Given the description of an element on the screen output the (x, y) to click on. 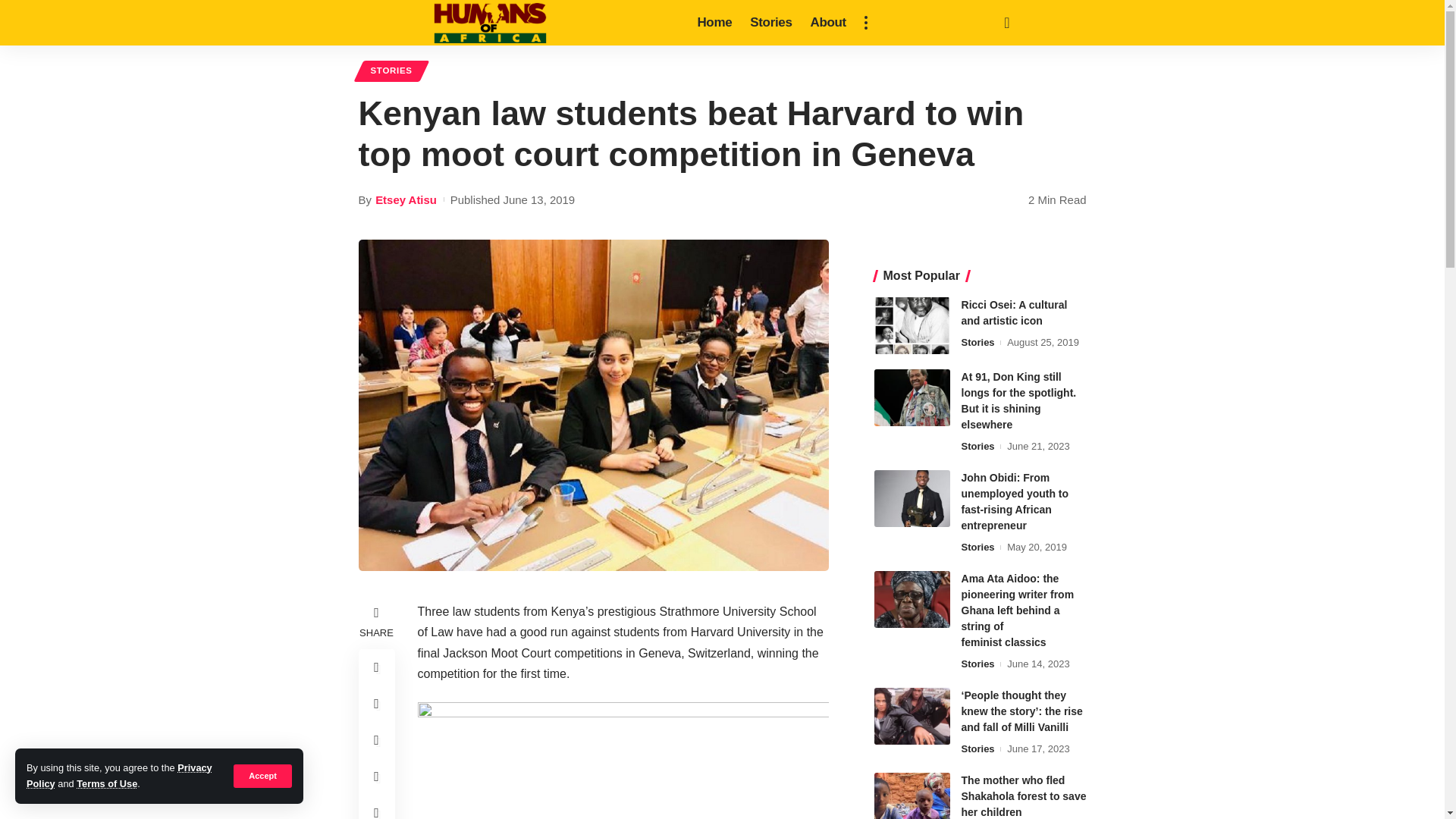
STORIES (390, 70)
The mother who fled Shakahola forest to save her children (912, 796)
Terms of Use (106, 783)
Home (714, 22)
Stories (770, 22)
About (829, 22)
Accept (262, 775)
Etsey Atisu (405, 198)
Privacy Policy (119, 775)
